Given the description of an element on the screen output the (x, y) to click on. 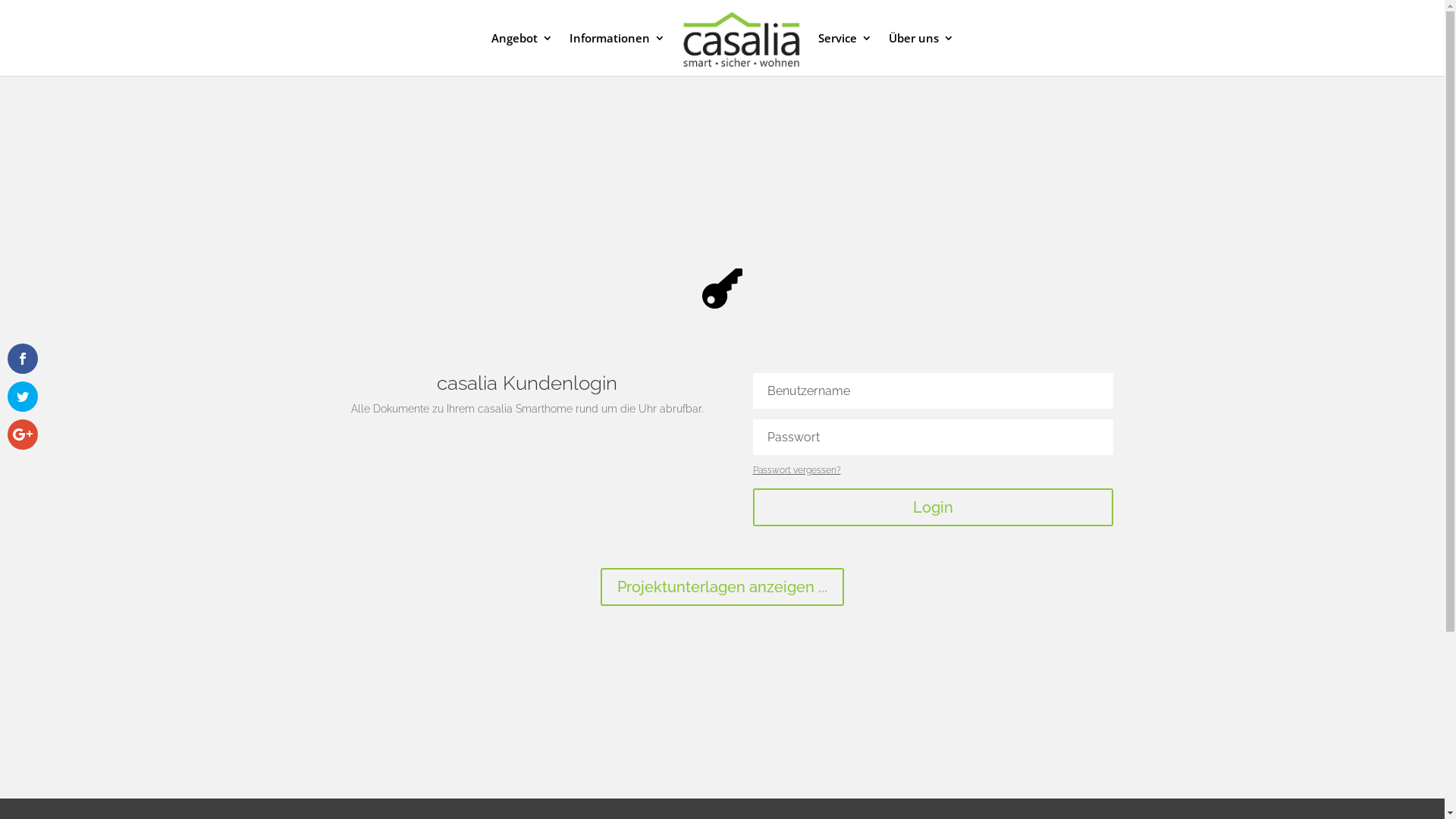
Projektunterlagen anzeigen ... Element type: text (722, 586)
Service Element type: text (844, 53)
Passwort vergessen? Element type: text (796, 469)
Login Element type: text (932, 507)
Angebot Element type: text (521, 53)
Informationen Element type: text (616, 53)
